Given the description of an element on the screen output the (x, y) to click on. 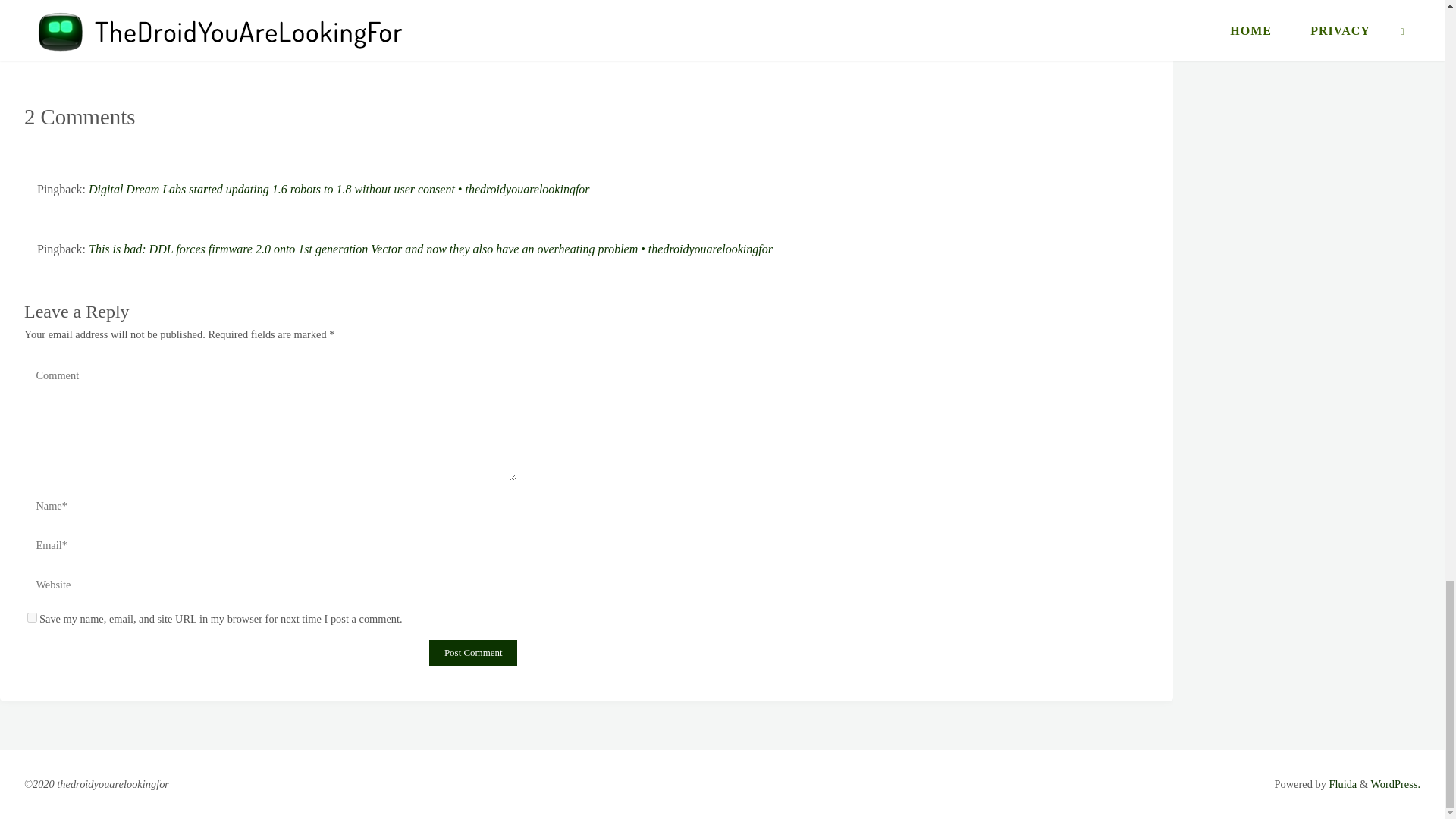
Vector Escape Pod: Blame It On The Weatherman? (173, 11)
Semantic Personal Publishing Platform (1395, 784)
Fluida WordPress Theme by Cryout Creations (1341, 784)
yes (32, 617)
Post Comment (472, 652)
Post Comment (472, 652)
